Given the description of an element on the screen output the (x, y) to click on. 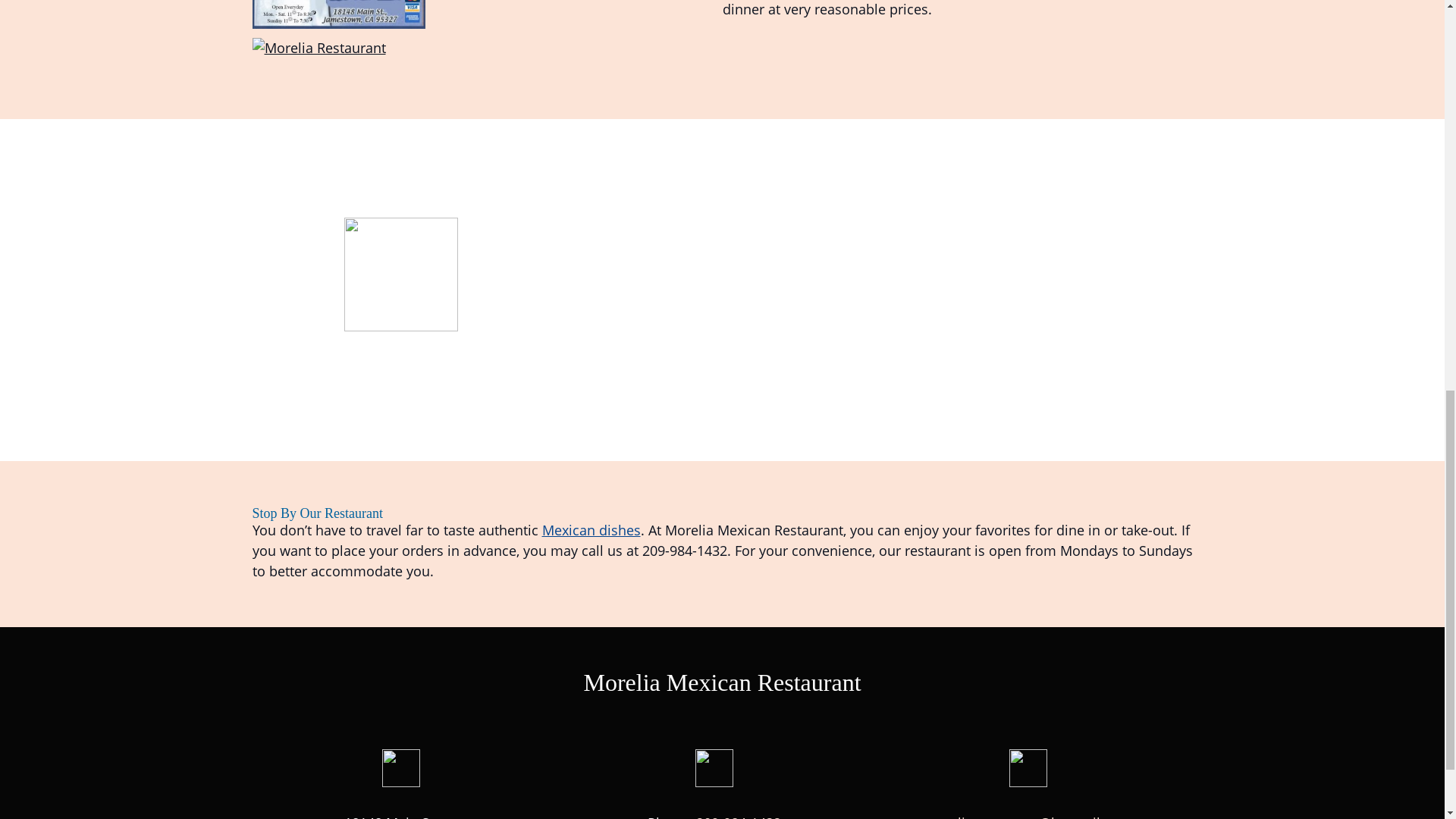
Morelia Restaurant  (338, 14)
Mexican dishes (590, 529)
Morelia Restaurant  (318, 47)
209-984-1432 (737, 816)
